Given the description of an element on the screen output the (x, y) to click on. 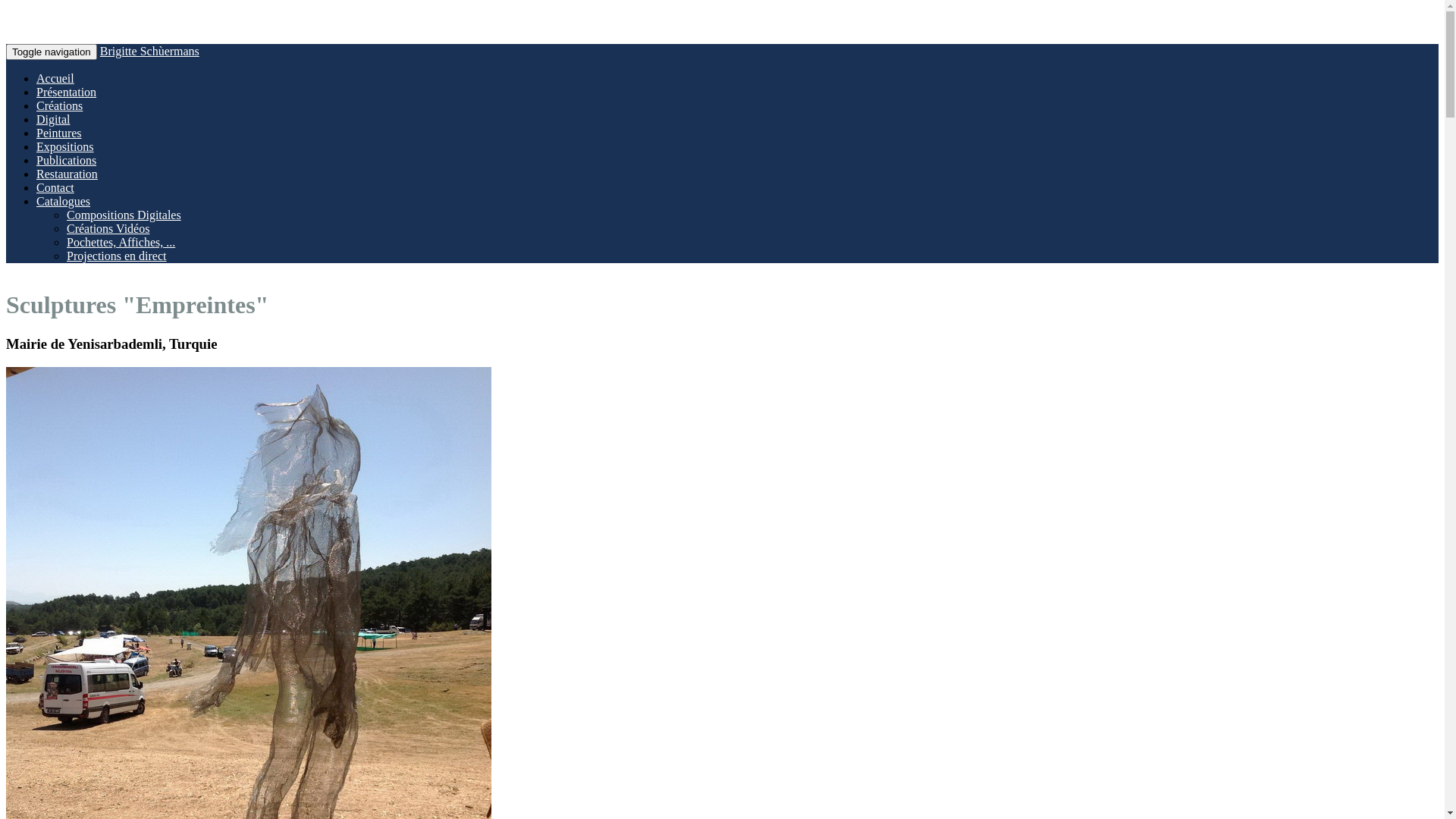
Digital Element type: text (52, 118)
Toggle navigation Element type: text (51, 51)
Pochettes, Affiches, ... Element type: text (120, 241)
Restauration Element type: text (66, 173)
Peintures Element type: text (58, 132)
Expositions Element type: text (65, 146)
Compositions Digitales Element type: text (123, 214)
Contact Element type: text (55, 187)
Publications Element type: text (66, 159)
Accueil Element type: text (55, 78)
Catalogues Element type: text (63, 200)
Projections en direct Element type: text (116, 255)
